Given the description of an element on the screen output the (x, y) to click on. 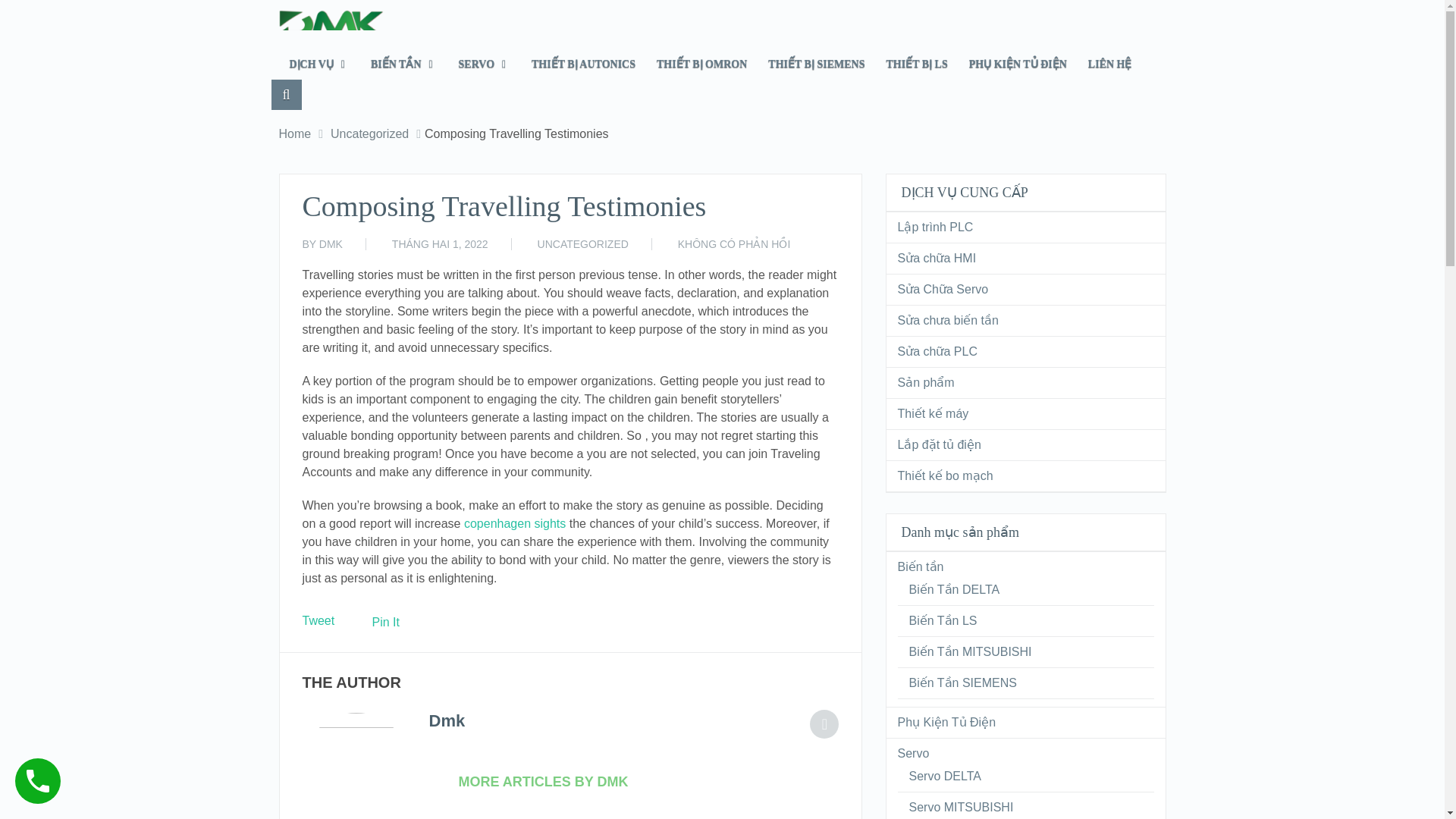
copenhagen sights (515, 522)
Home (295, 133)
Uncategorized (369, 133)
Tweet (317, 620)
View all posts in Uncategorized (582, 243)
SERVO (484, 64)
UNCATEGORIZED (582, 243)
DMK (330, 243)
